Given the description of an element on the screen output the (x, y) to click on. 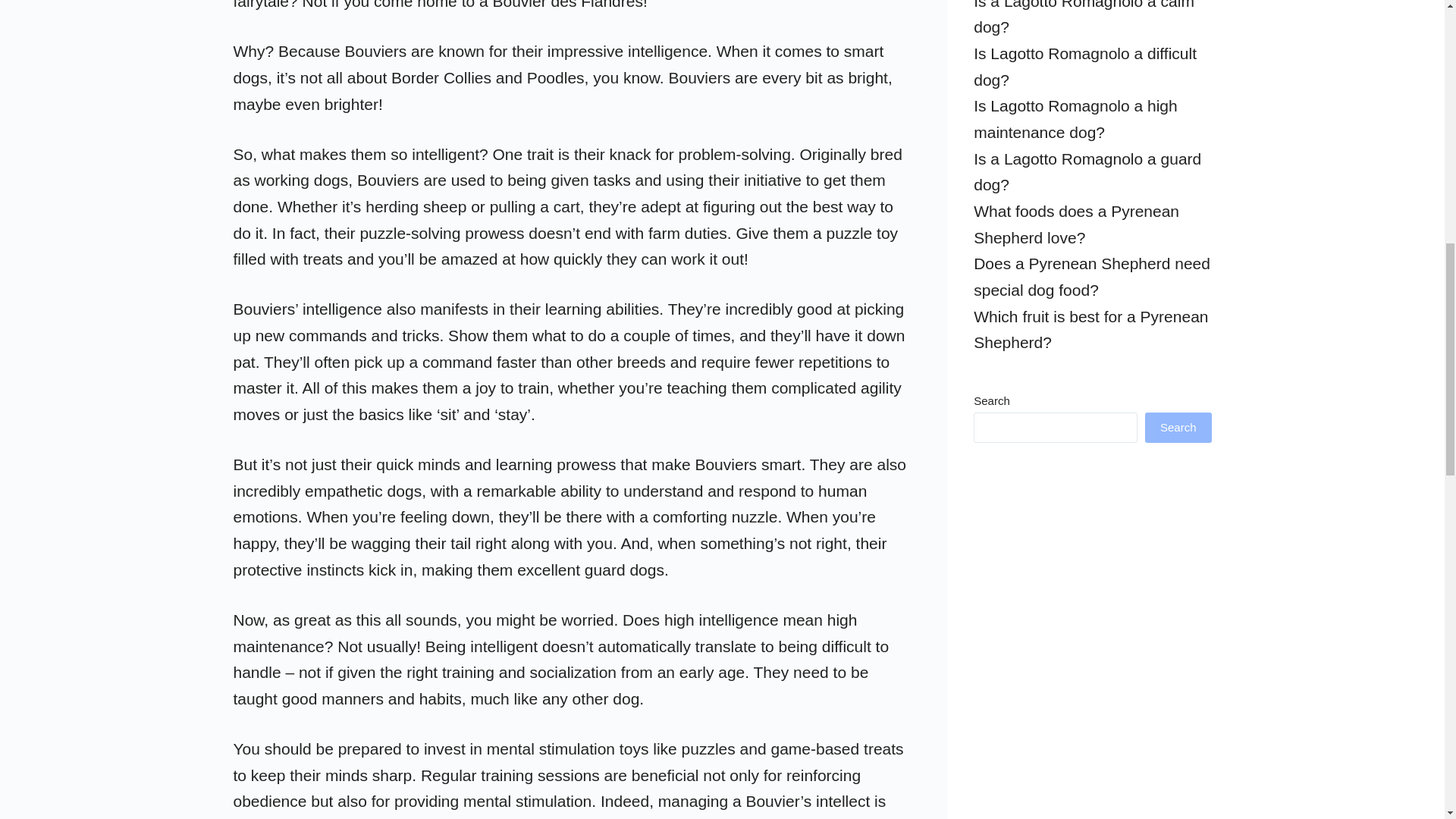
Search (1177, 427)
Is a Lagotto Romagnolo a calm dog? (1083, 18)
Is a Lagotto Romagnolo a guard dog? (1087, 171)
Is Lagotto Romagnolo a difficult dog? (1085, 66)
Is Lagotto Romagnolo a high maintenance dog? (1075, 118)
What foods does a Pyrenean Shepherd love? (1076, 224)
Does a Pyrenean Shepherd need special dog food? (1091, 276)
Which fruit is best for a Pyrenean Shepherd? (1091, 329)
